Given the description of an element on the screen output the (x, y) to click on. 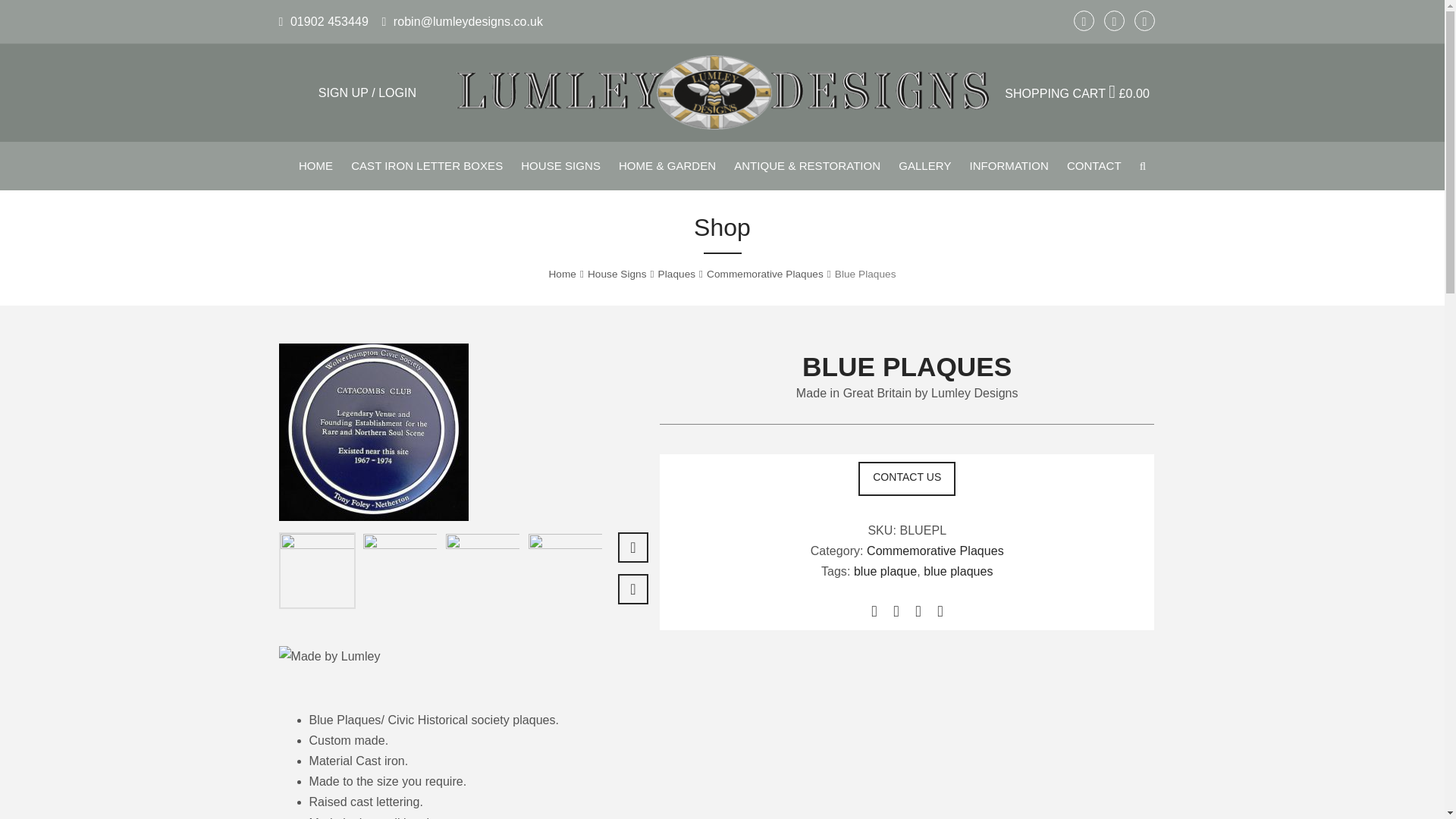
LOGIN (397, 92)
CAST IRON LETTER BOXES (427, 165)
01902 453449 (323, 21)
SIGN UP (343, 92)
Home (315, 165)
HOME (315, 165)
Cast Iron Letter Boxes (427, 165)
Lumley Designs Cast Iron (722, 92)
Sign Up (343, 92)
HOUSE SIGNS (561, 165)
